Given the description of an element on the screen output the (x, y) to click on. 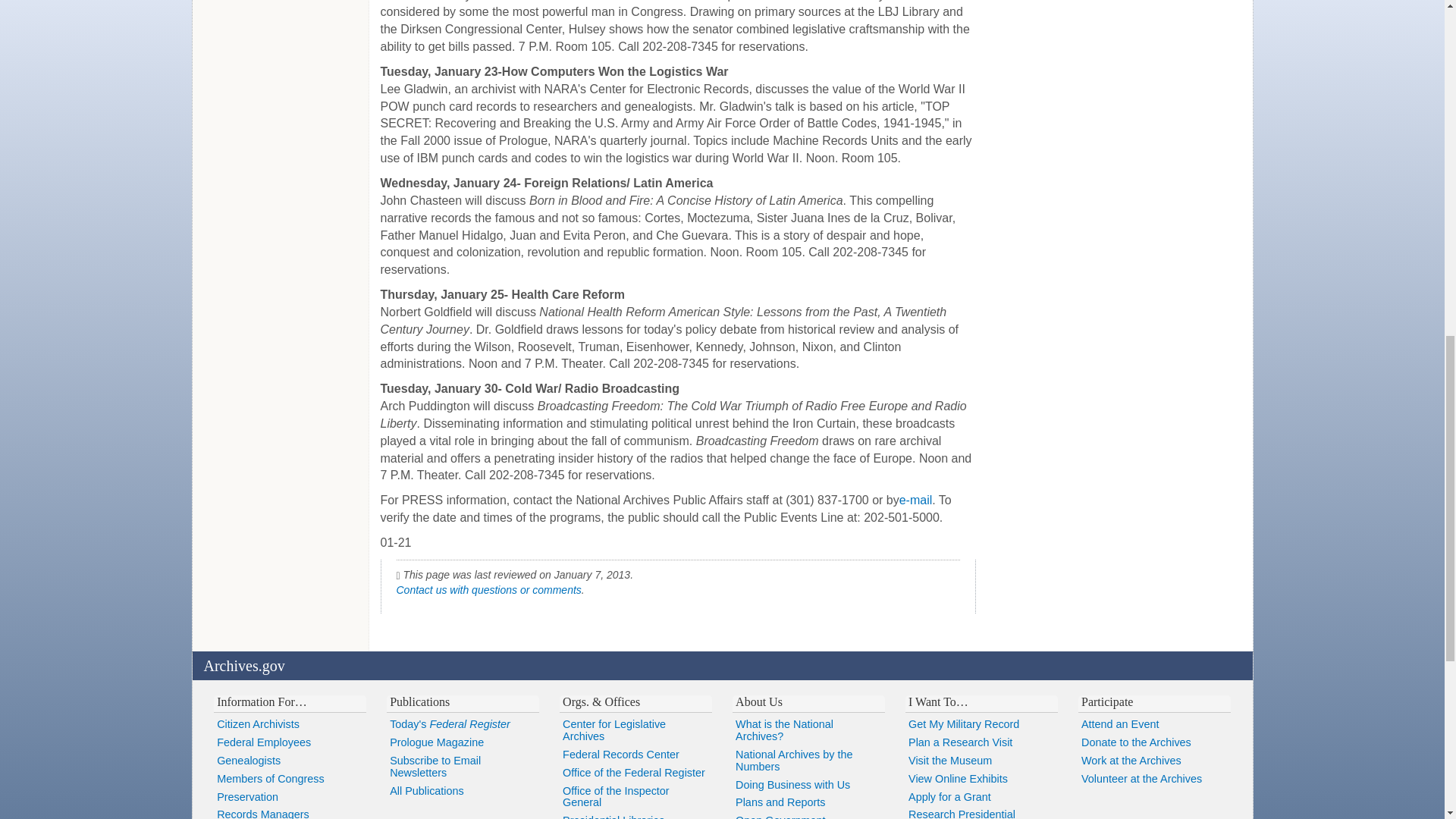
Contact us with questions or comments (488, 589)
Genealogists (290, 761)
e-mail (916, 499)
Citizen Archivists (290, 724)
Federal Employees (290, 742)
Members of Congress (290, 779)
